Given the description of an element on the screen output the (x, y) to click on. 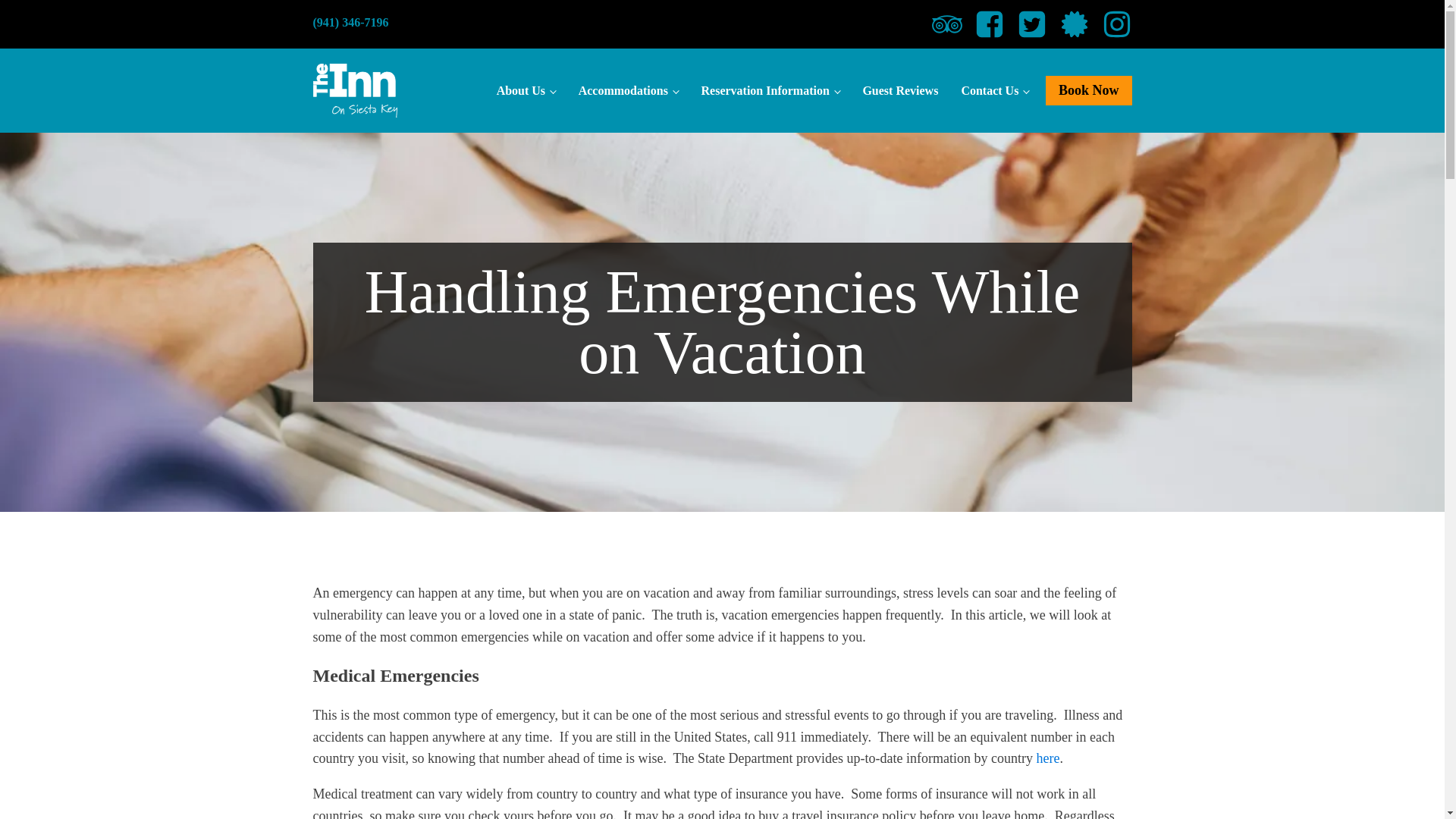
Guest Reviews (899, 91)
Contact Us (994, 91)
Accommodations (627, 91)
Book Now (1088, 90)
Reservation Information (769, 91)
About Us (525, 91)
